Given the description of an element on the screen output the (x, y) to click on. 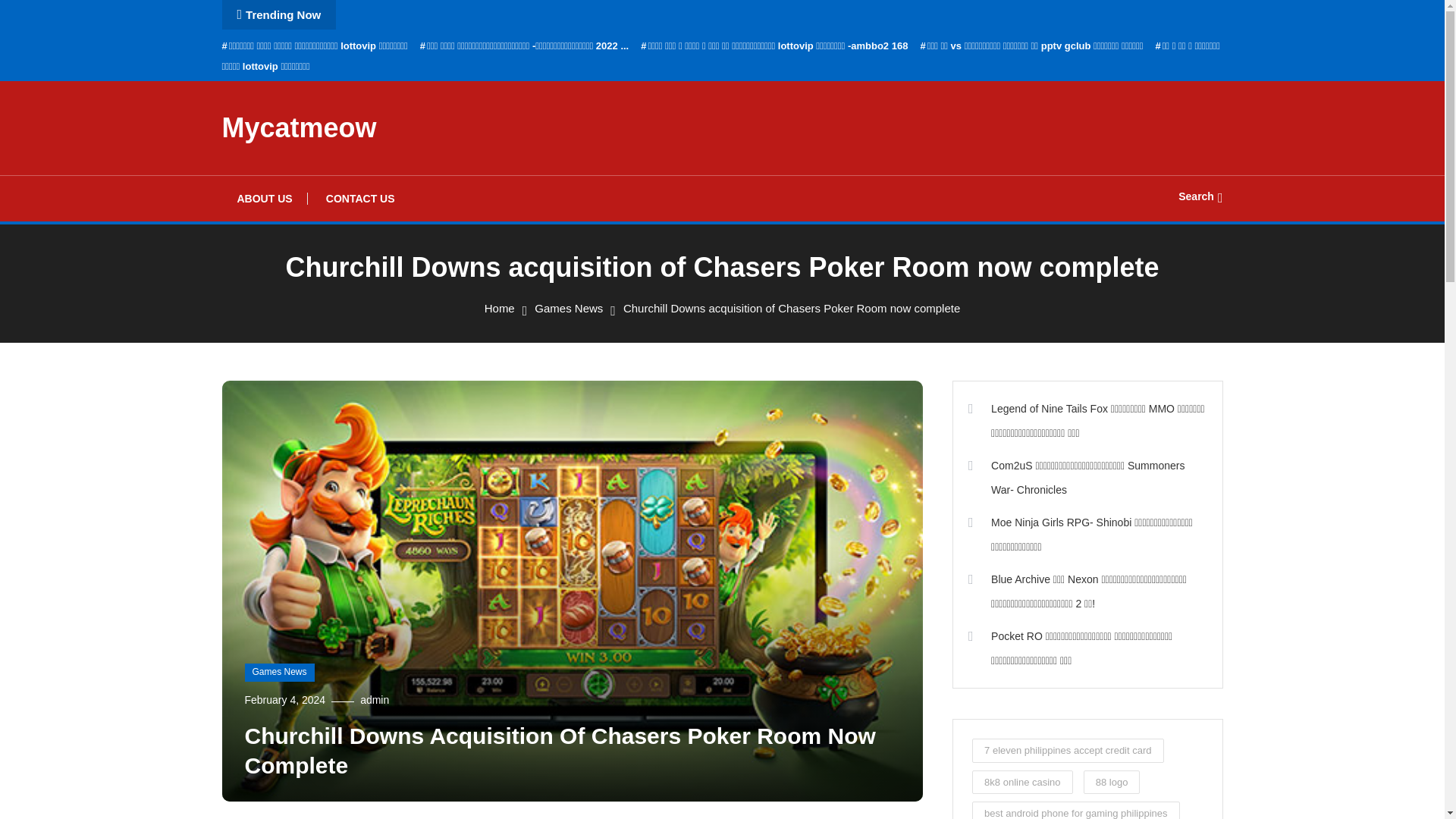
Mycatmeow (298, 127)
Games News (279, 672)
Games News (568, 308)
admin (373, 699)
ABOUT US (264, 198)
Home (499, 308)
February 4, 2024 (284, 699)
CONTACT US (360, 198)
Search (1200, 196)
Search (768, 434)
